Given the description of an element on the screen output the (x, y) to click on. 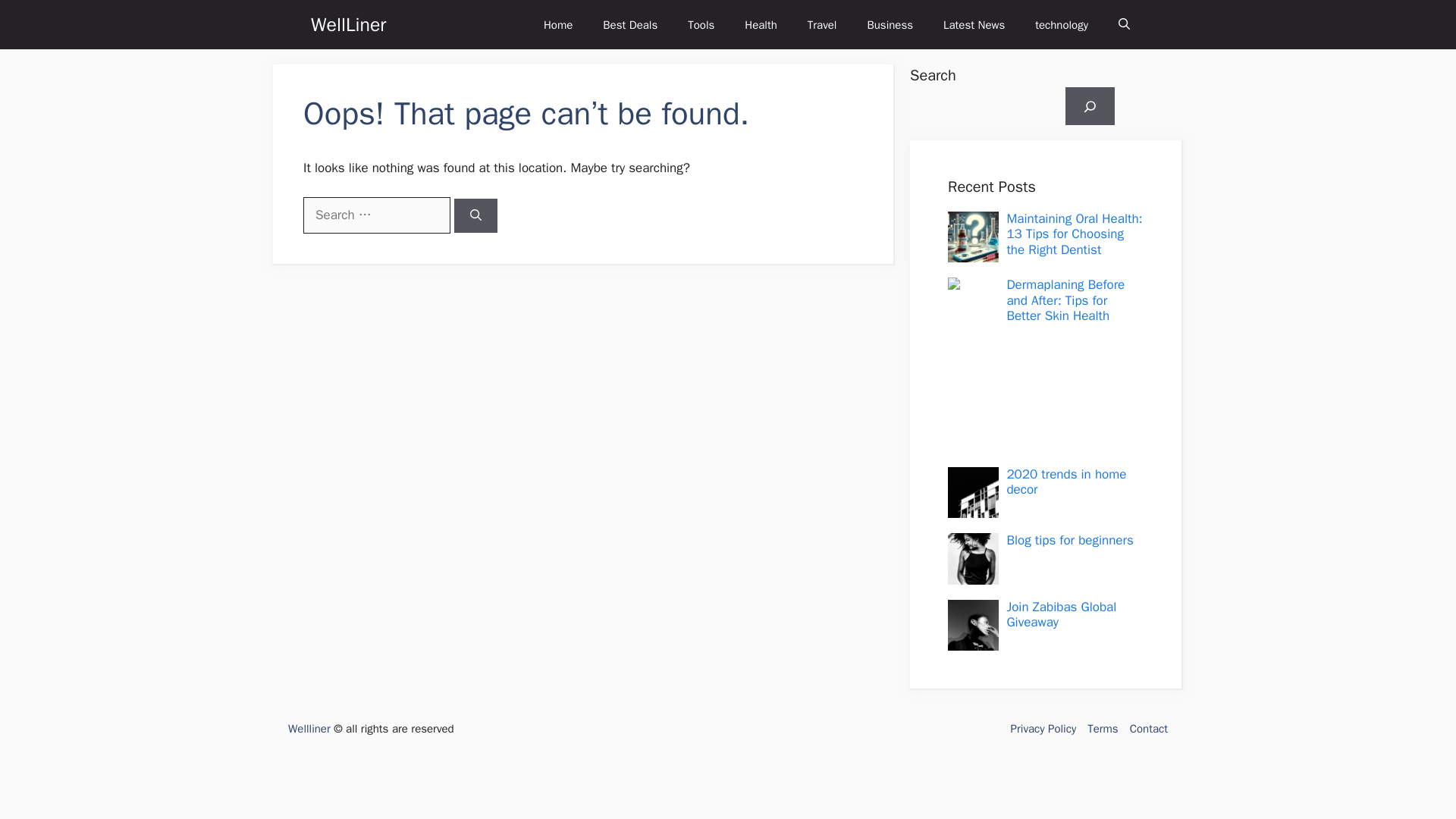
Latest News (974, 23)
Business (889, 23)
Travel (821, 23)
2020 trends in home decor (1065, 481)
Join Zabibas Global Giveaway (1061, 613)
Dermaplaning Before and After: Tips for Better Skin Health (1065, 299)
Health (760, 23)
Home (558, 23)
Search for: (375, 215)
